Given the description of an element on the screen output the (x, y) to click on. 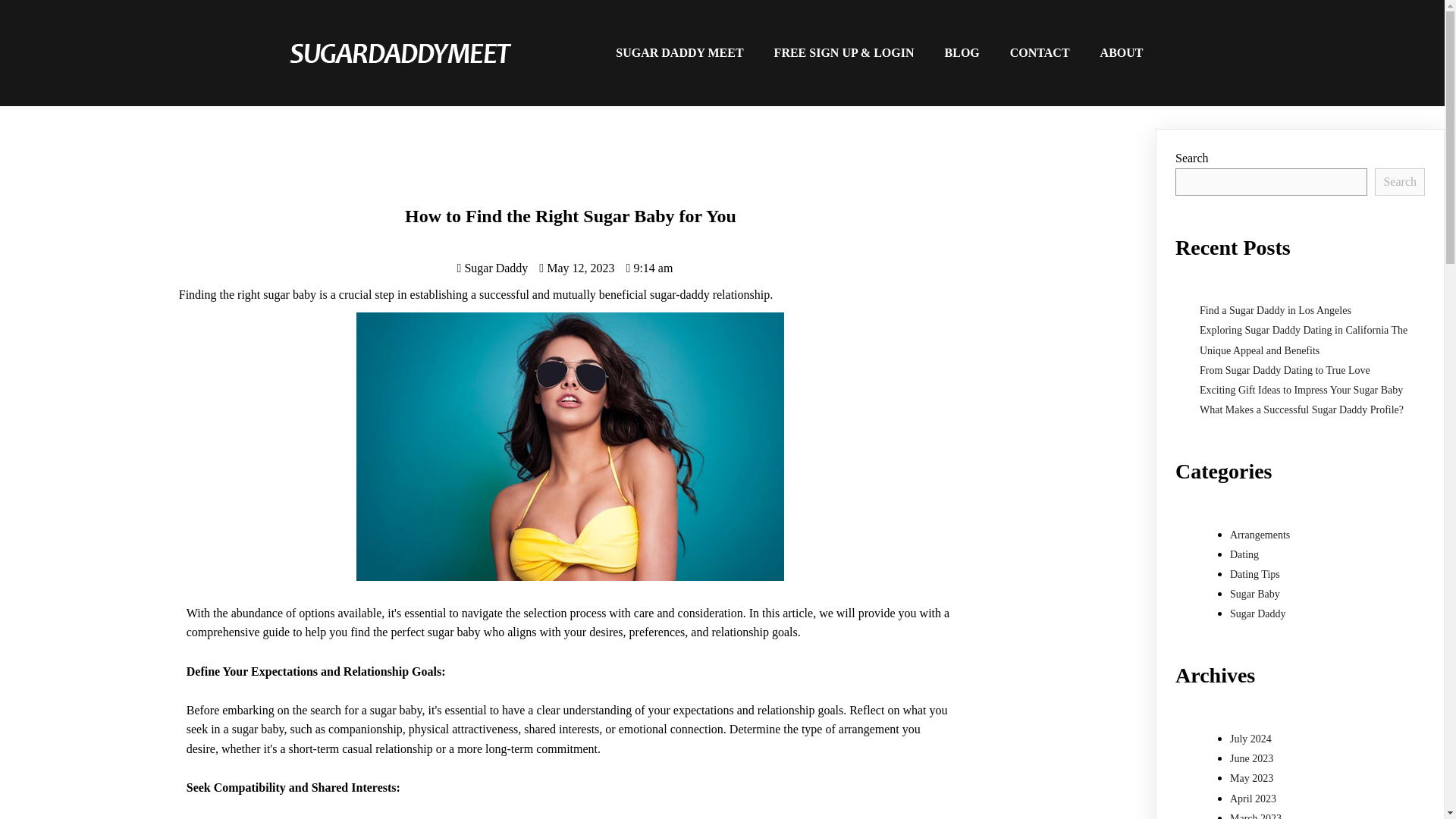
Dating (1244, 554)
Find a Sugar Daddy in Los Angeles (1275, 310)
SUGAR DADDY MEET (678, 53)
What Makes a Successful Sugar Daddy Profile? (1301, 409)
Sugar Daddy (492, 267)
June 2023 (1251, 758)
Dating Tips (1254, 573)
May 2023 (1251, 778)
ABOUT (1121, 53)
